Given the description of an element on the screen output the (x, y) to click on. 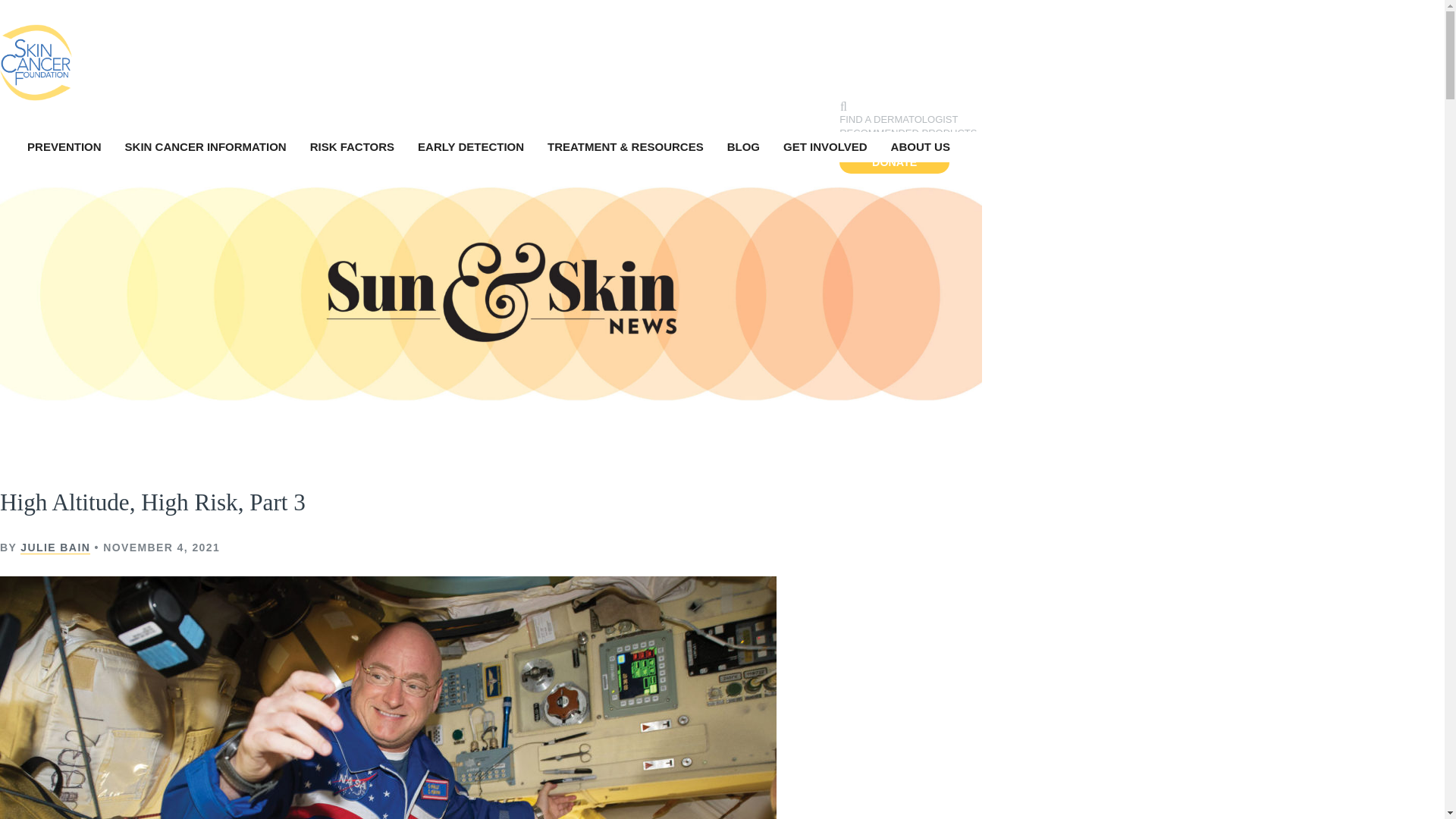
DONATE (894, 161)
PREVENTION (66, 146)
FOR MEDICAL PROVIDERS (904, 147)
SKIN CANCER INFORMATION (207, 146)
RECOMMENDED PRODUCTS (908, 132)
FIND A DERMATOLOGIST (899, 119)
